Given the description of an element on the screen output the (x, y) to click on. 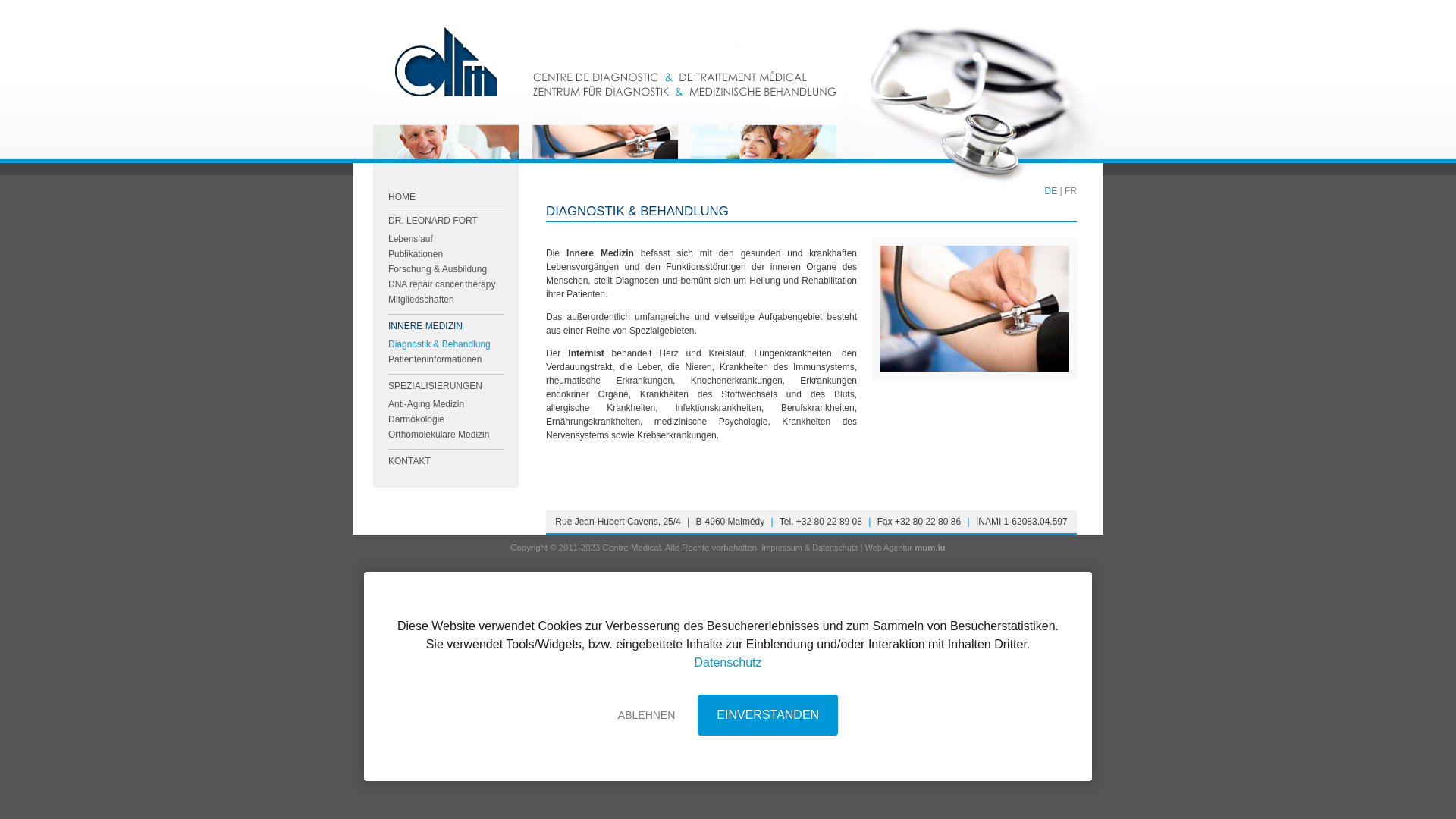
Web Agentur Element type: text (888, 547)
Patienteninformationen Element type: text (434, 359)
Lebenslauf Element type: text (410, 238)
Anti-Aging Medizin Element type: text (426, 403)
DE Element type: text (1050, 190)
Diagnostik & Behandlung - Medizinisches Zentrum Element type: hover (974, 308)
Datenschutz Element type: text (728, 661)
INNERE MEDIZIN Element type: text (425, 325)
FR Element type: text (1070, 190)
KONTAKT Element type: text (409, 460)
Impressum & Datenschutz Element type: text (809, 547)
SPEZIALISIERUNGEN Element type: text (435, 385)
Mitgliedschaften Element type: text (421, 299)
HOME Element type: text (401, 196)
Forschung & Ausbildung Element type: text (437, 268)
DR. LEONARD FORT Element type: text (432, 220)
EINVERSTANDEN Element type: text (767, 714)
Diagnostik & Behandlung Element type: text (439, 343)
ABLEHNEN Element type: text (646, 715)
DNA repair cancer therapy Element type: text (441, 284)
Publikationen Element type: text (415, 253)
Orthomolekulare Medizin Element type: text (438, 434)
